Given the description of an element on the screen output the (x, y) to click on. 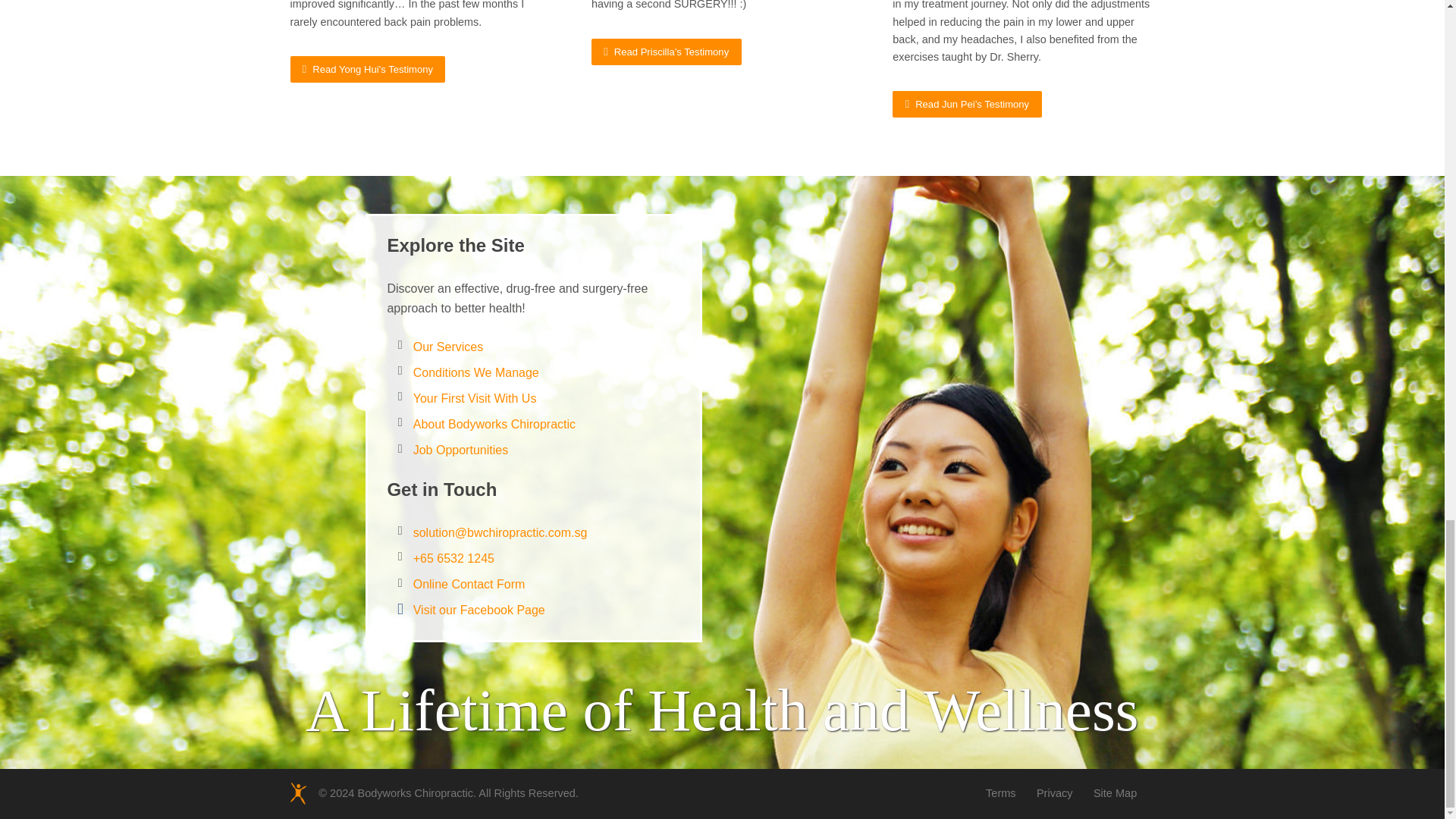
Our Services (448, 346)
Terms (1000, 793)
About Bodyworks Chiropractic (494, 423)
Privacy (1054, 793)
Site Map (1115, 793)
Your First Visit With Us (475, 398)
Visit our Facebook Page (478, 609)
Conditions We Manage (475, 372)
Online Contact Form (469, 584)
Job Opportunities (460, 449)
